Given the description of an element on the screen output the (x, y) to click on. 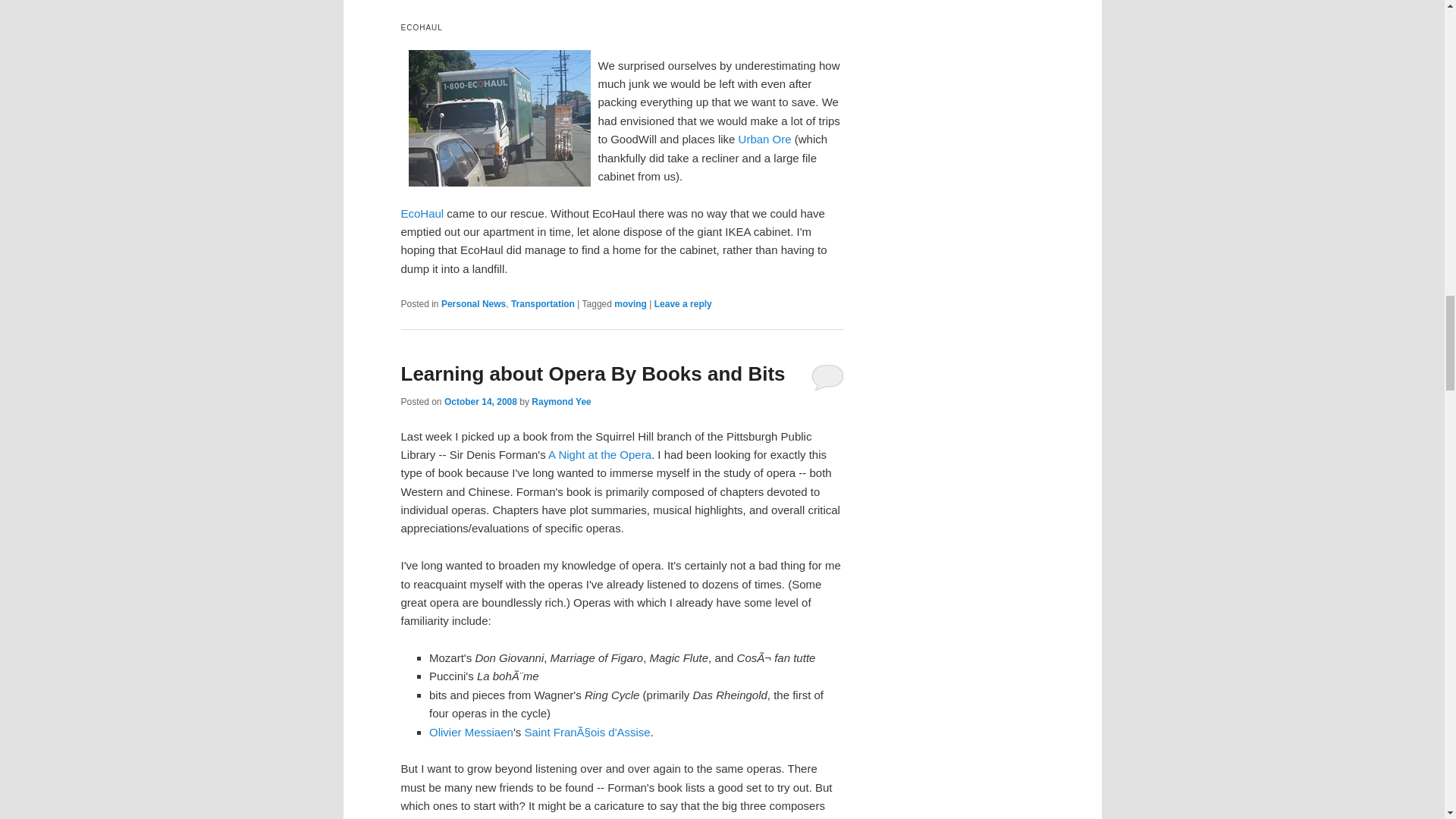
Raymond Yee (561, 401)
EcoHaul (422, 213)
View all posts by Raymond Yee (561, 401)
October 14, 2008 (480, 401)
A Night at the Opera (599, 454)
5:55 pm (480, 401)
Urban Ore (765, 138)
Transportation (543, 303)
Leave a reply (682, 303)
moving (630, 303)
